Given the description of an element on the screen output the (x, y) to click on. 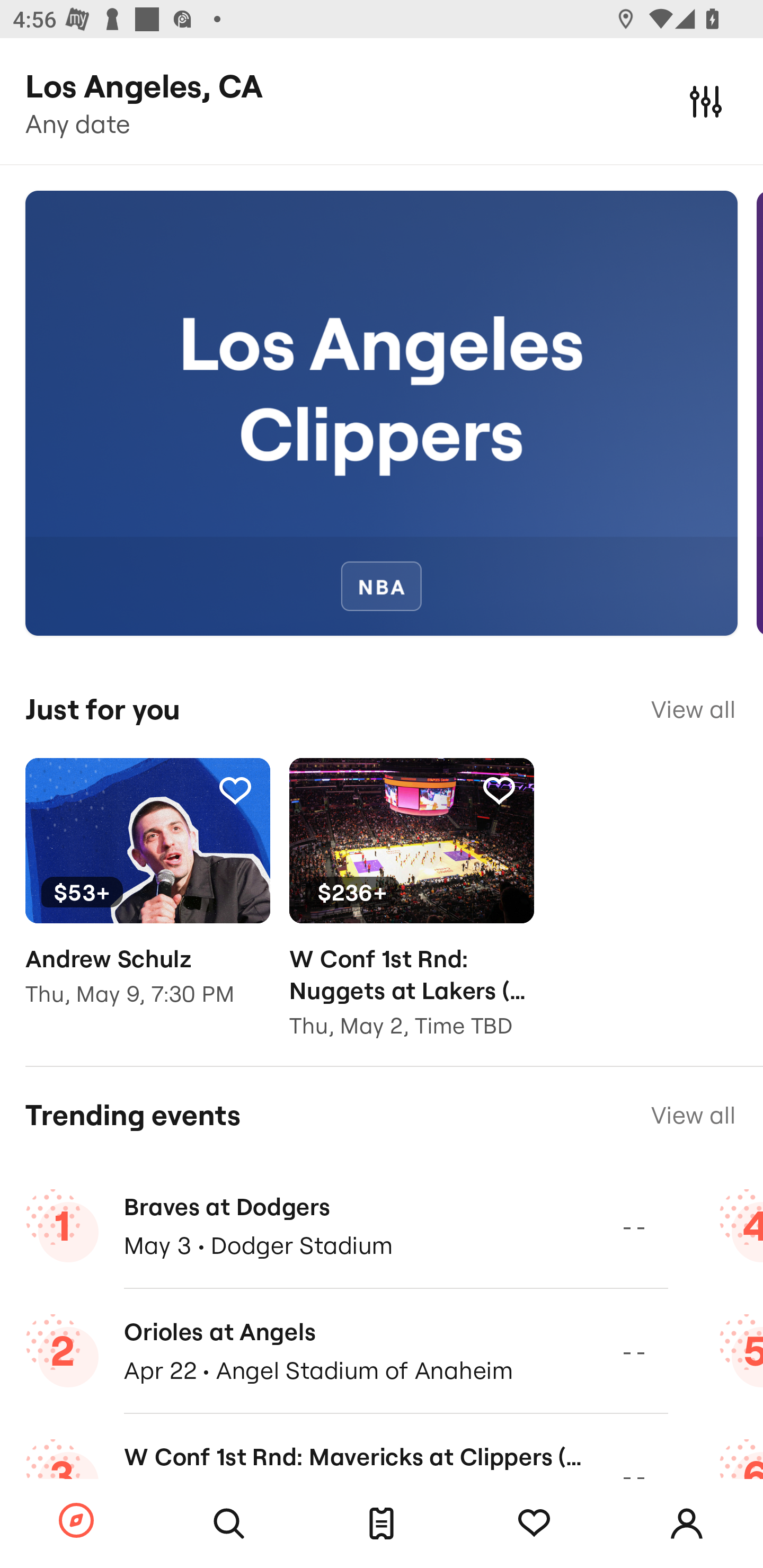
Filters (705, 100)
View all (693, 709)
Tracking $53+ Andrew Schulz Thu, May 9, 7:30 PM (147, 895)
Tracking (234, 790)
Tracking (498, 790)
View all (693, 1114)
Browse (76, 1521)
Search (228, 1523)
Tickets (381, 1523)
Tracking (533, 1523)
Account (686, 1523)
